Given the description of an element on the screen output the (x, y) to click on. 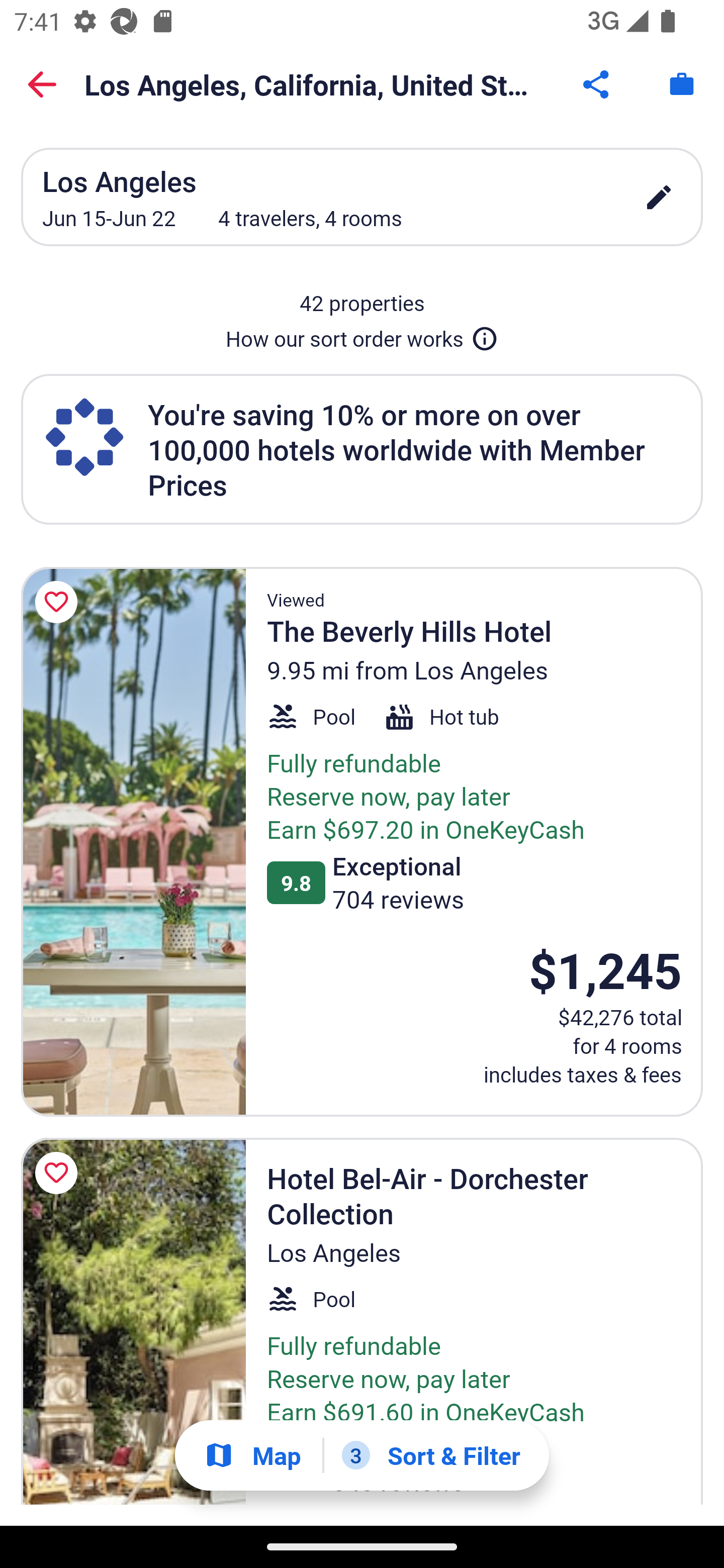
Back (42, 84)
Share Button (597, 84)
Trips. Button (681, 84)
How our sort order works (361, 334)
Save The Beverly Hills Hotel to a trip (59, 601)
The Beverly Hills Hotel (133, 841)
Hotel Bel-Air - Dorchester Collection (133, 1321)
3 Sort & Filter 3 Filters applied. Filters Button (430, 1455)
Show map Map Show map Button (252, 1455)
